Given the description of an element on the screen output the (x, y) to click on. 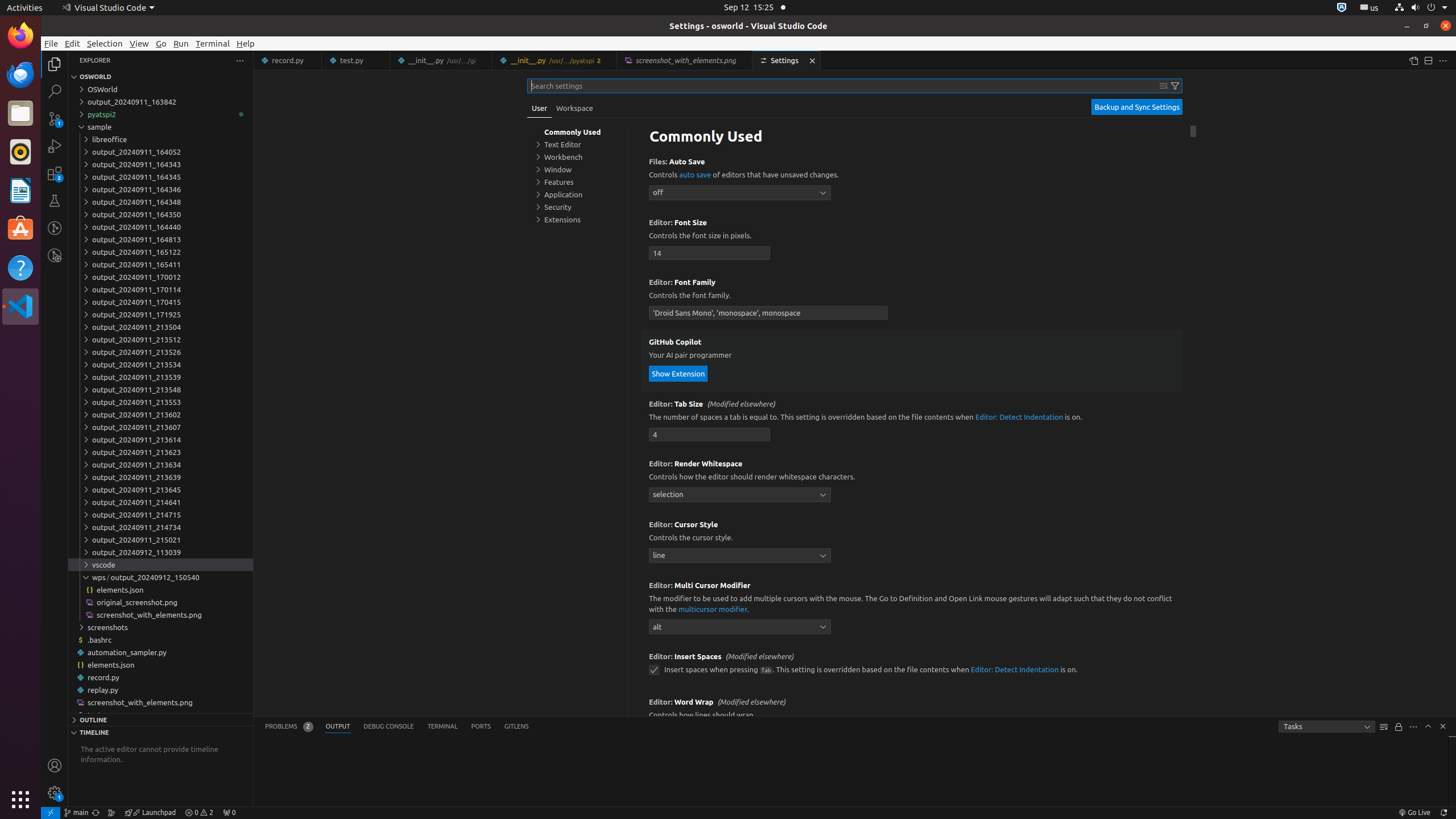
output_20240911_213539 Element type: tree-item (160, 376)
automation_sampler.py Element type: tree-item (160, 652)
GitLens Inspect Element type: page-tab (54, 255)
Text Editor, group Element type: tree-item (577, 144)
